Given the description of an element on the screen output the (x, y) to click on. 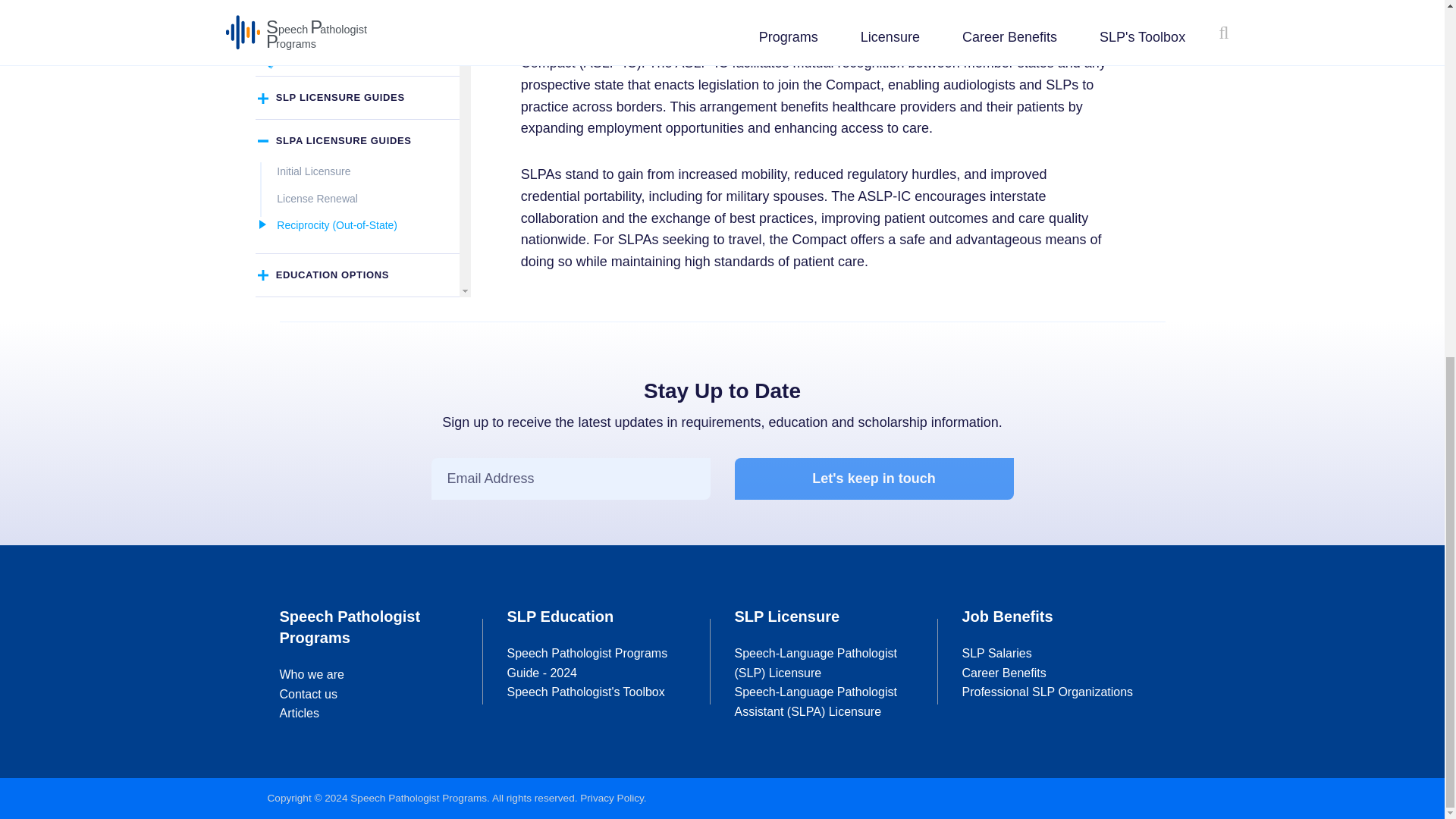
Who we are (311, 674)
Contact us (307, 694)
Let's keep in touch (873, 478)
Let's keep in touch (873, 478)
